Given the description of an element on the screen output the (x, y) to click on. 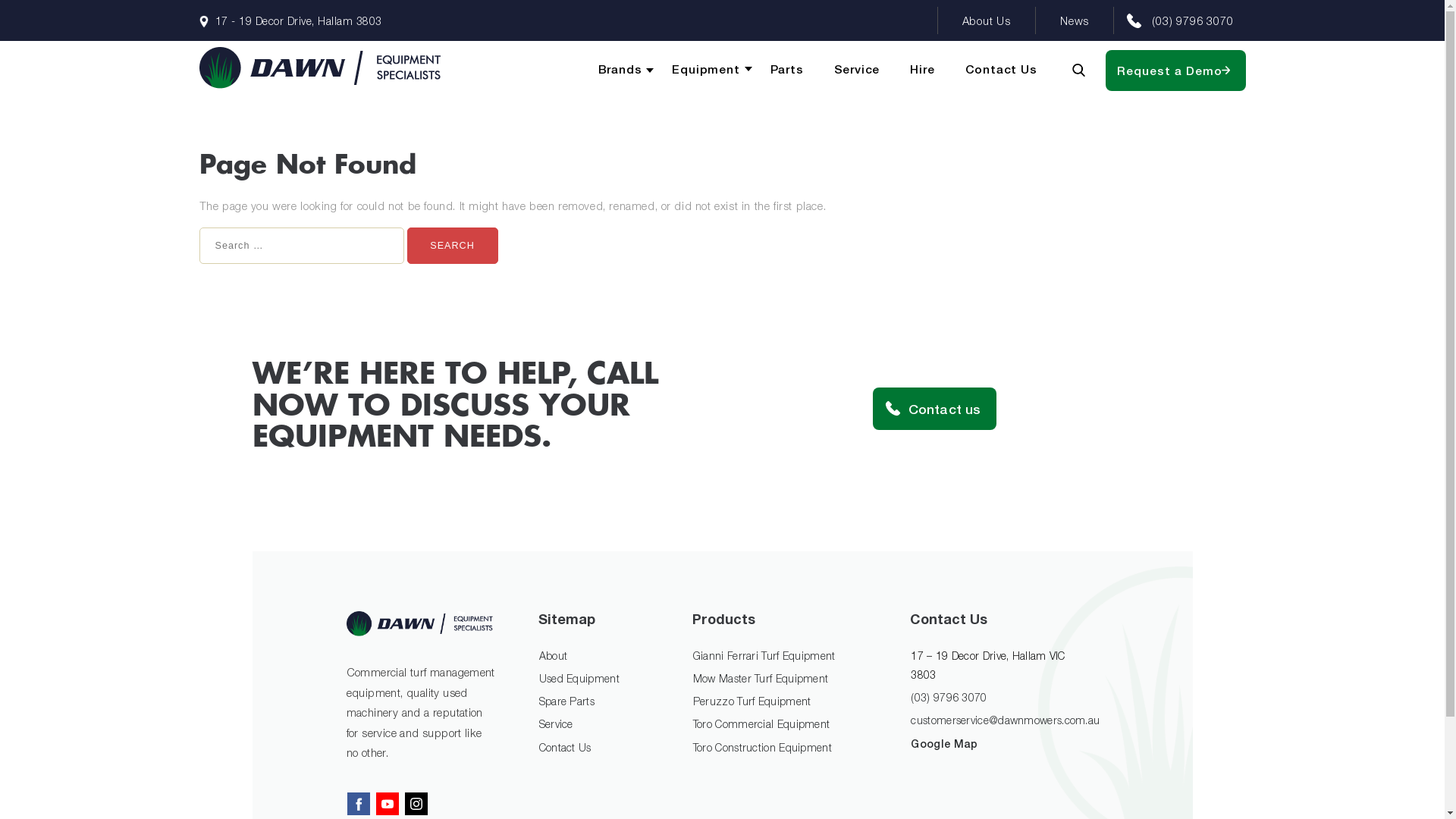
Hire Element type: text (921, 69)
News Element type: text (1074, 20)
Gianni Ferrari Turf Equipment Element type: text (764, 655)
Toro Construction Equipment Element type: text (762, 746)
(03) 9796 3070 Element type: text (948, 696)
About Us Element type: text (986, 20)
Equipment Element type: text (705, 69)
Used Equipment Element type: text (579, 677)
Google Map Element type: text (943, 743)
Service Element type: text (556, 723)
Contact us Element type: text (933, 408)
Parts Element type: text (787, 69)
About Element type: text (553, 655)
Request a Demo Element type: text (1175, 70)
Toro Commercial Equipment Element type: text (761, 723)
Peruzzo Turf Equipment Element type: text (752, 700)
(03) 9796 3070 Element type: text (1192, 20)
Service Element type: text (857, 69)
Search Element type: text (451, 245)
Mow Master Turf Equipment Element type: text (760, 677)
17 - 19 Decor Drive, Hallam 3803 Element type: text (289, 21)
customerservice@dawnmowers.com.au Element type: text (1004, 719)
Contact Us Element type: text (1000, 69)
Spare Parts Element type: text (566, 700)
Contact Us Element type: text (565, 746)
Brands Element type: text (620, 69)
